Given the description of an element on the screen output the (x, y) to click on. 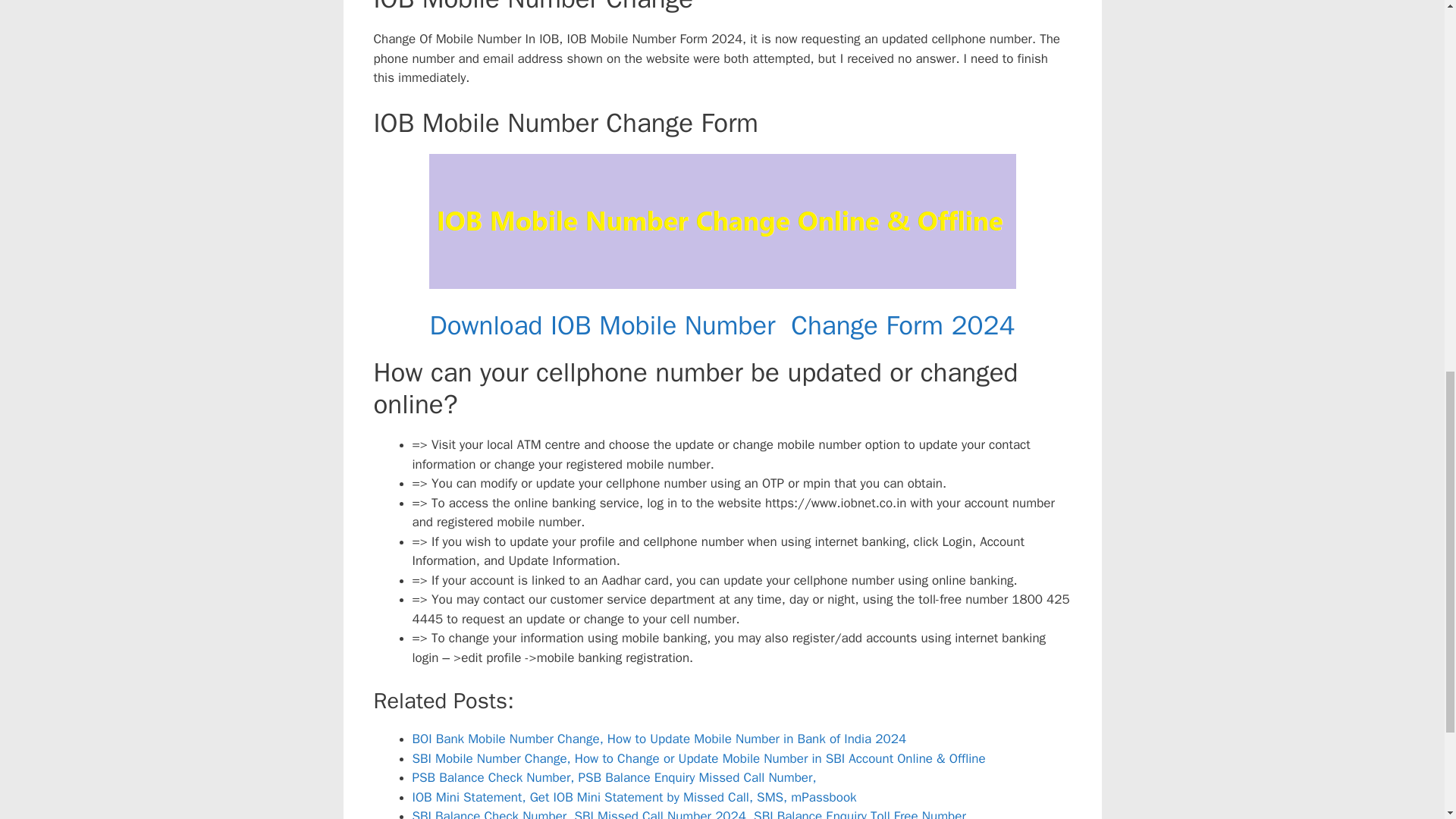
Form 2024 (949, 325)
Download IOB Mobile Number  Change (653, 325)
